Given the description of an element on the screen output the (x, y) to click on. 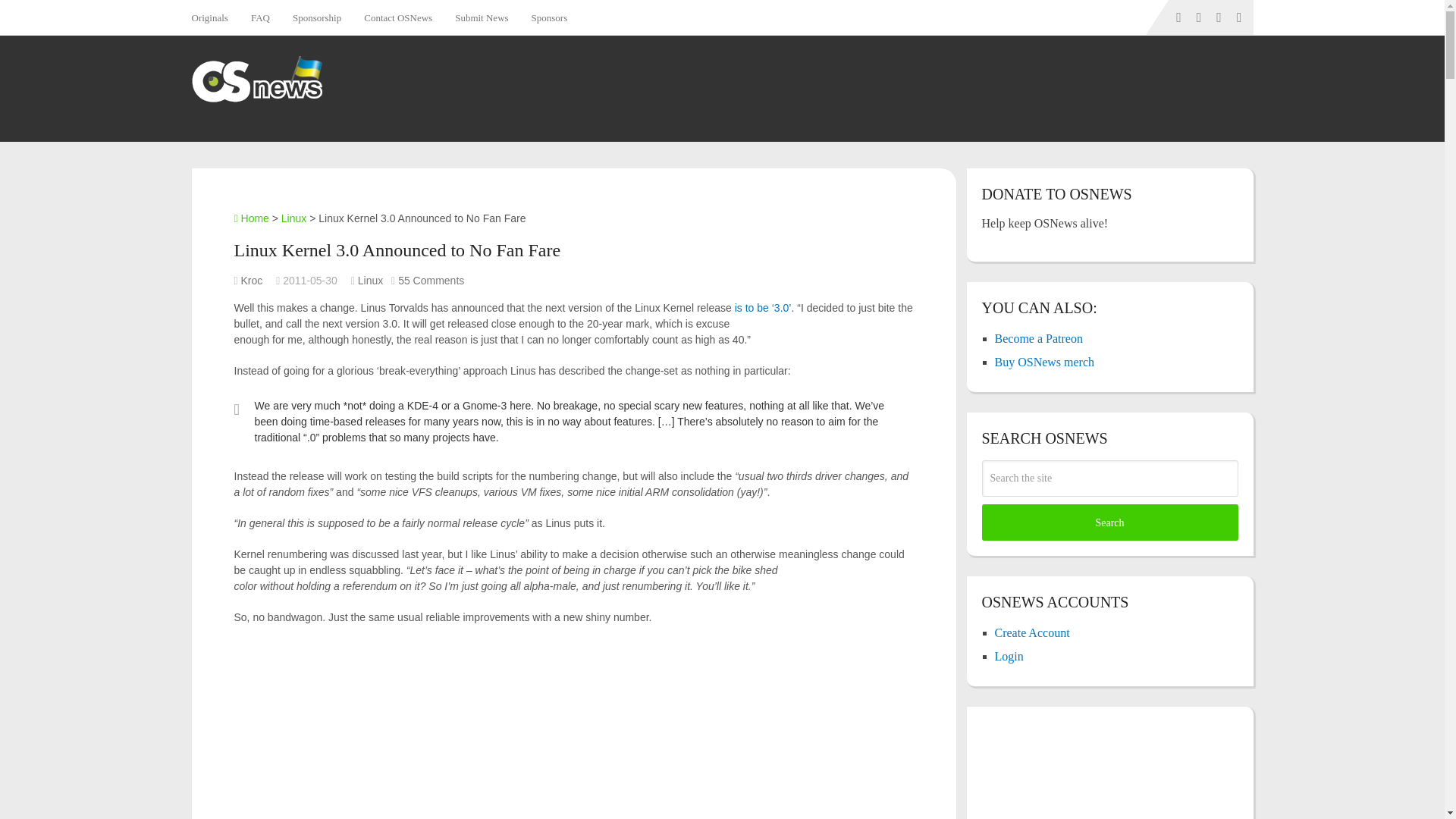
Posts by Kroc (252, 280)
Sponsors (549, 17)
FAQ (260, 17)
Search (1109, 522)
Linux (293, 218)
Sponsorship (316, 17)
55 Comments (430, 280)
 Home (249, 218)
Contact OSNews (398, 17)
Kroc (252, 280)
